Given the description of an element on the screen output the (x, y) to click on. 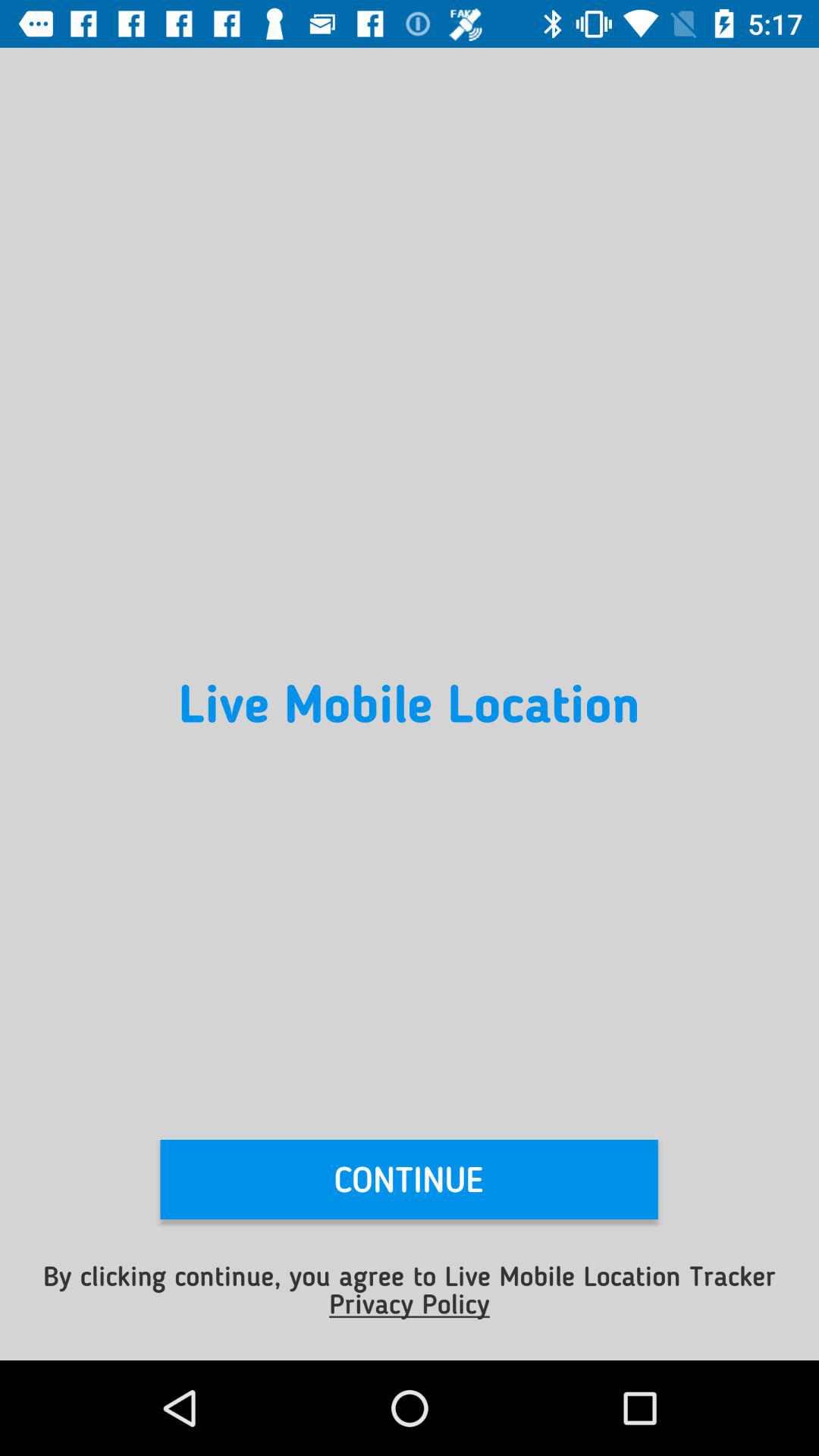
flip to by clicking continue (409, 1289)
